Given the description of an element on the screen output the (x, y) to click on. 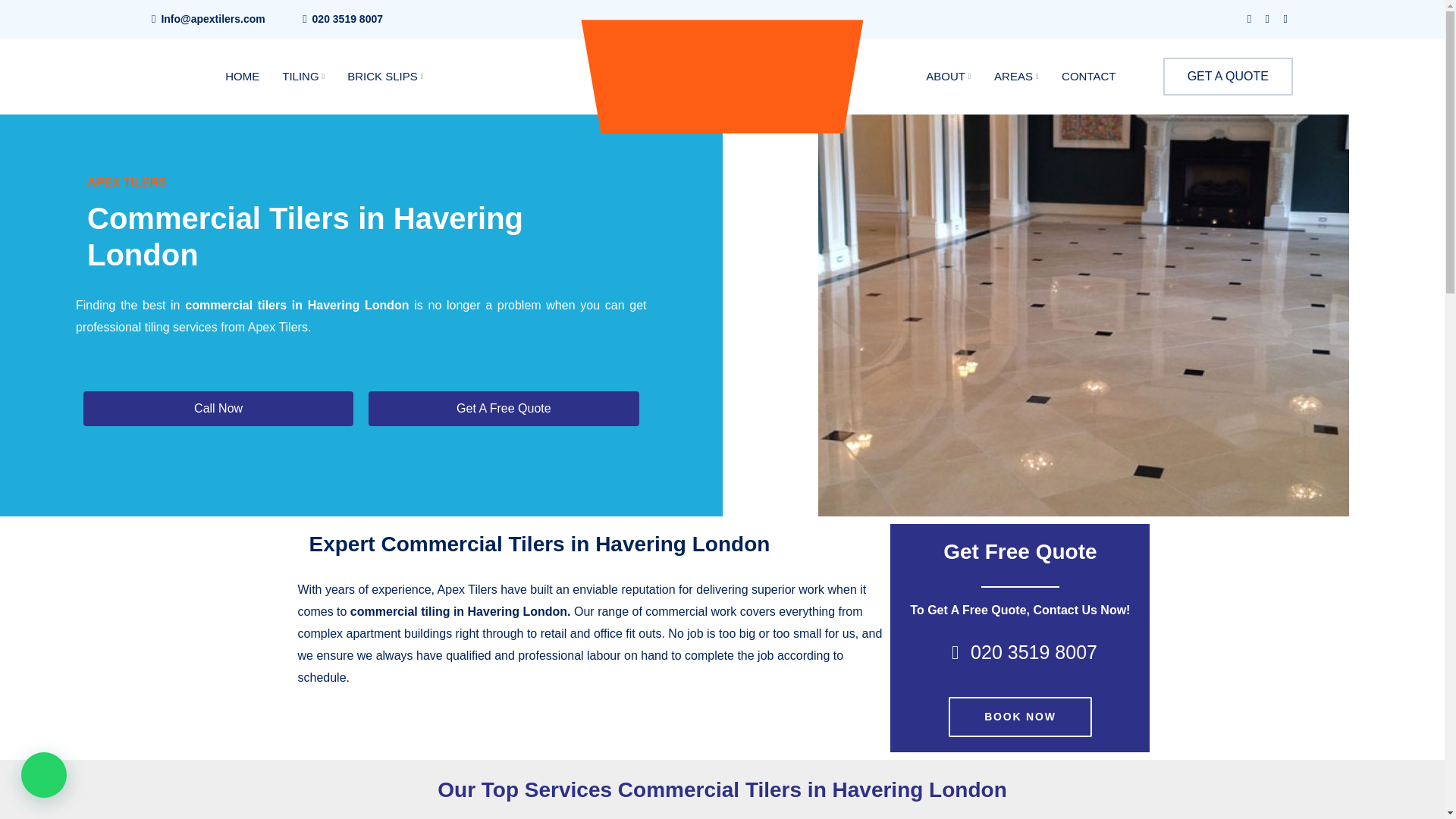
020 3519 8007 (347, 19)
GET A QUOTE (1227, 76)
BRICK SLIPS (385, 75)
